Given the description of an element on the screen output the (x, y) to click on. 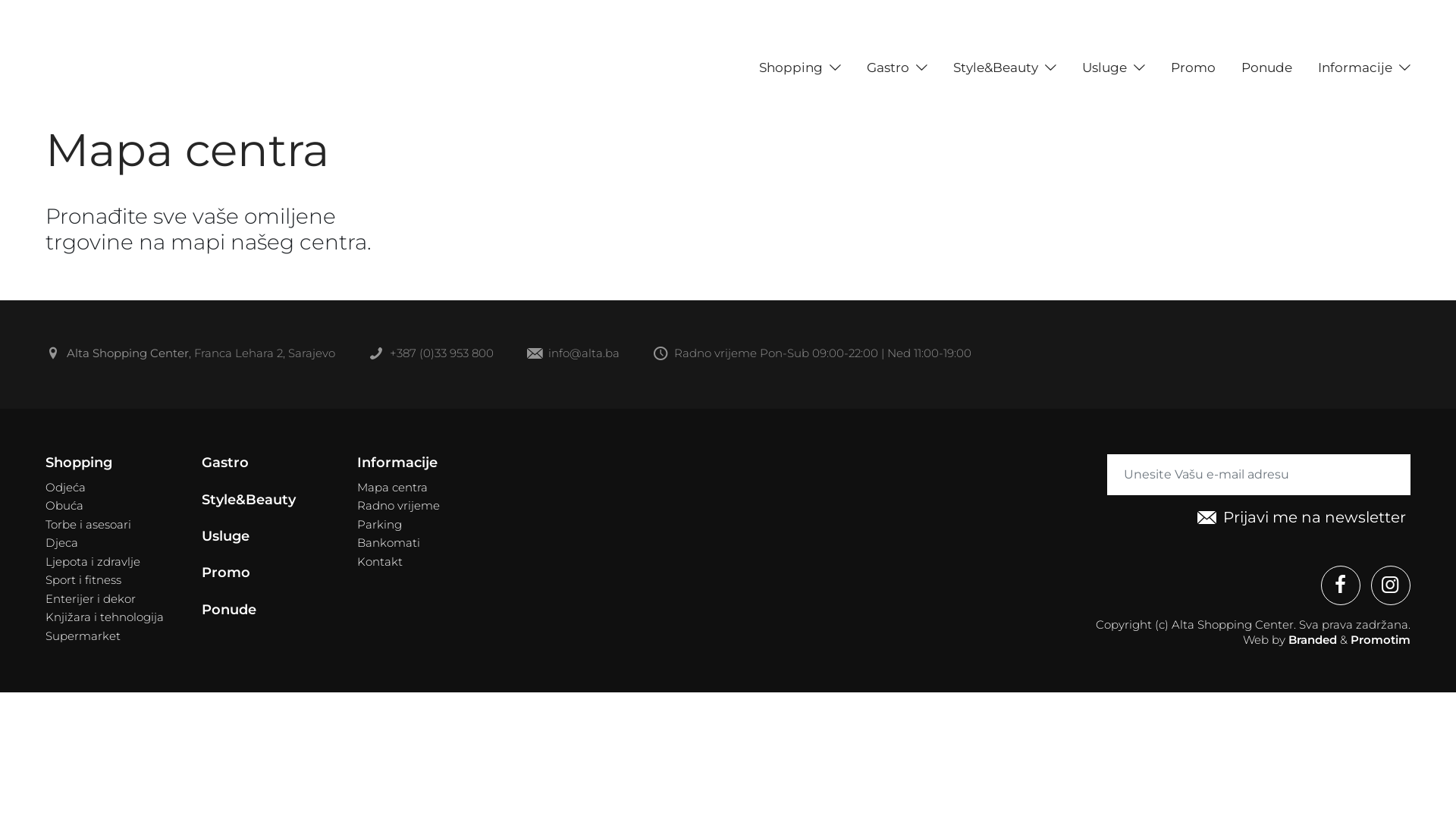
Gastro Element type: text (887, 67)
Style&Beauty Element type: text (995, 67)
Ljepota i zdravlje Element type: text (92, 561)
Ponude Element type: text (1266, 67)
Parking Element type: text (379, 524)
Promo Element type: text (1192, 67)
Radno vrijeme Pon-Sub 09:00-22:00 | Ned 11:00-19:00 Element type: text (811, 354)
Bankomati Element type: text (388, 542)
Informacije Element type: text (397, 462)
Torbe i asesoari Element type: text (88, 524)
Supermarket Element type: text (82, 635)
Promotim Element type: text (1380, 639)
Shopping Element type: text (790, 67)
info@alta.ba Element type: text (573, 354)
Gastro Element type: text (224, 462)
Style&Beauty Element type: text (248, 499)
Enterijer i dekor Element type: text (90, 598)
Alta Shopping Center, Franca Lehara 2, Sarajevo Element type: text (190, 354)
+387 (0)33 953 800 Element type: text (430, 354)
Ponude Element type: text (228, 609)
Mapa centra Element type: text (392, 487)
Kontakt Element type: text (379, 561)
Usluge Element type: text (1104, 67)
Promo Element type: text (225, 572)
Djeca Element type: text (61, 542)
Usluge Element type: text (225, 536)
Shopping Element type: text (78, 462)
Informacije Element type: text (1354, 67)
Branded Element type: text (1312, 639)
Prijavi me na newsletter Element type: text (1301, 518)
Sport i fitness Element type: text (83, 579)
Radno vrijeme Element type: text (398, 505)
